Given the description of an element on the screen output the (x, y) to click on. 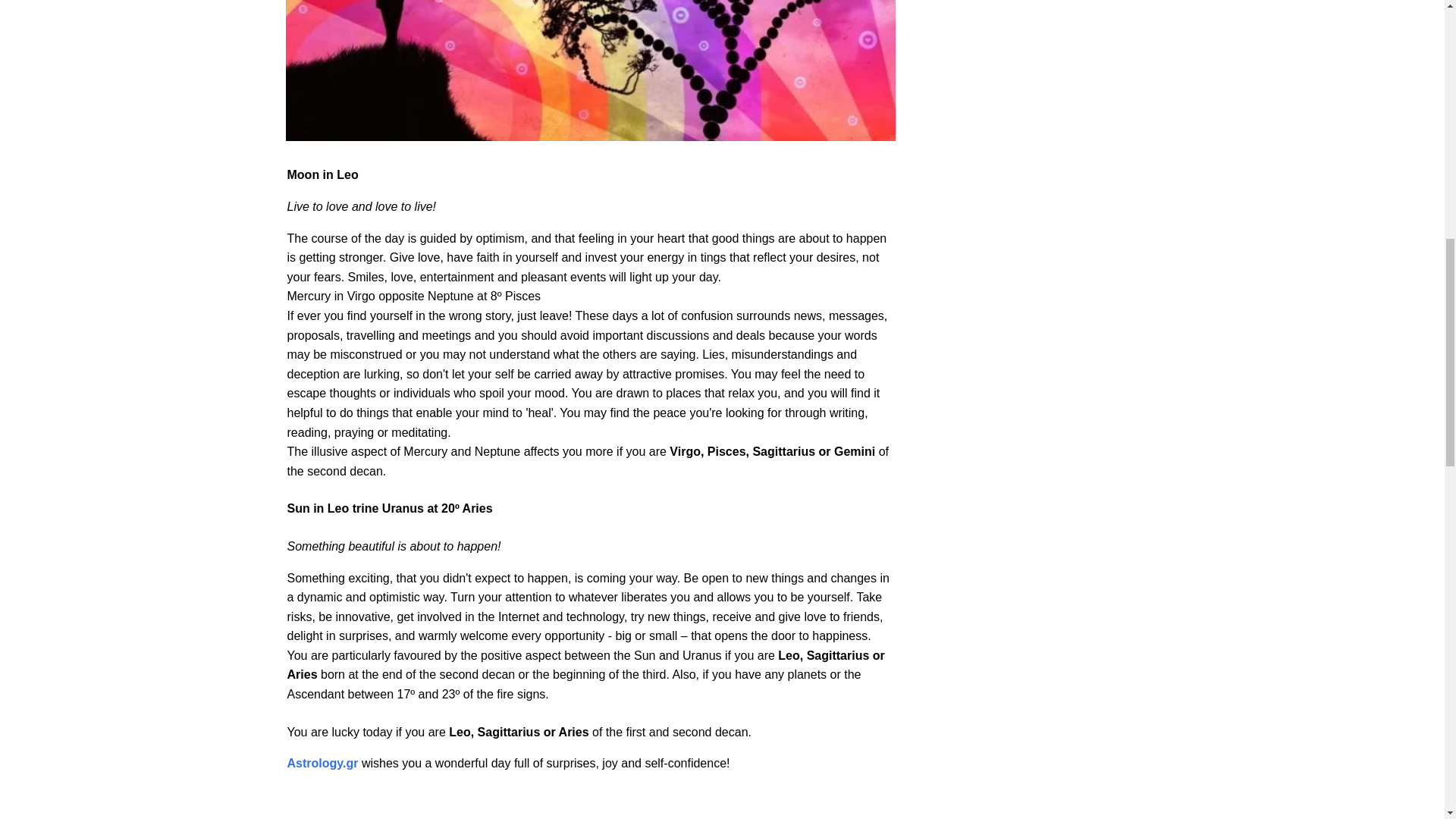
Astrology.gr (322, 762)
